Given the description of an element on the screen output the (x, y) to click on. 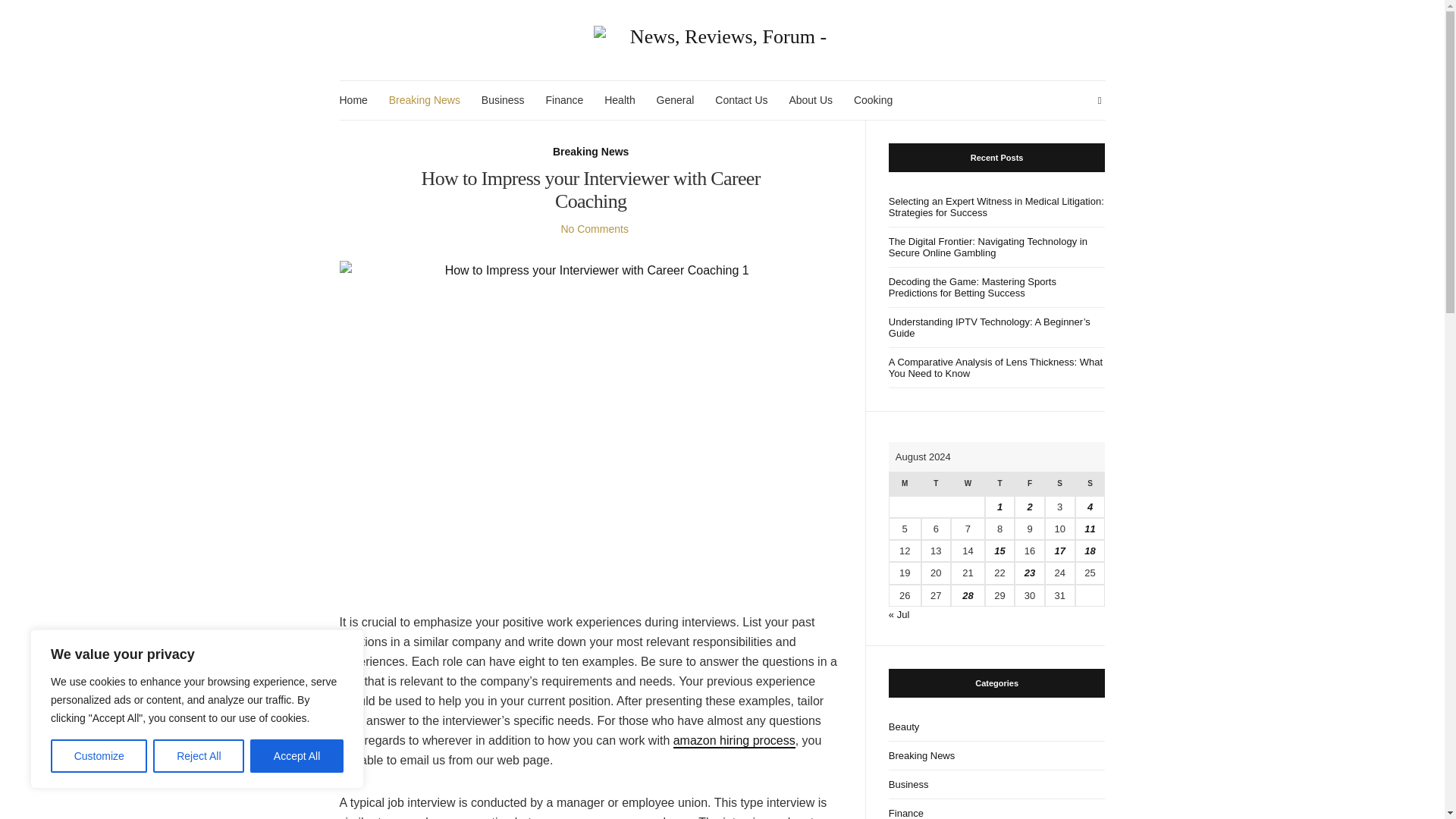
Thursday (999, 483)
Sunday (1090, 483)
No Comments (593, 228)
Tuesday (935, 483)
amazon hiring process (733, 740)
Saturday (1060, 483)
Breaking News (424, 99)
Customize (98, 756)
About Us (810, 99)
Contact Us (740, 99)
